Given the description of an element on the screen output the (x, y) to click on. 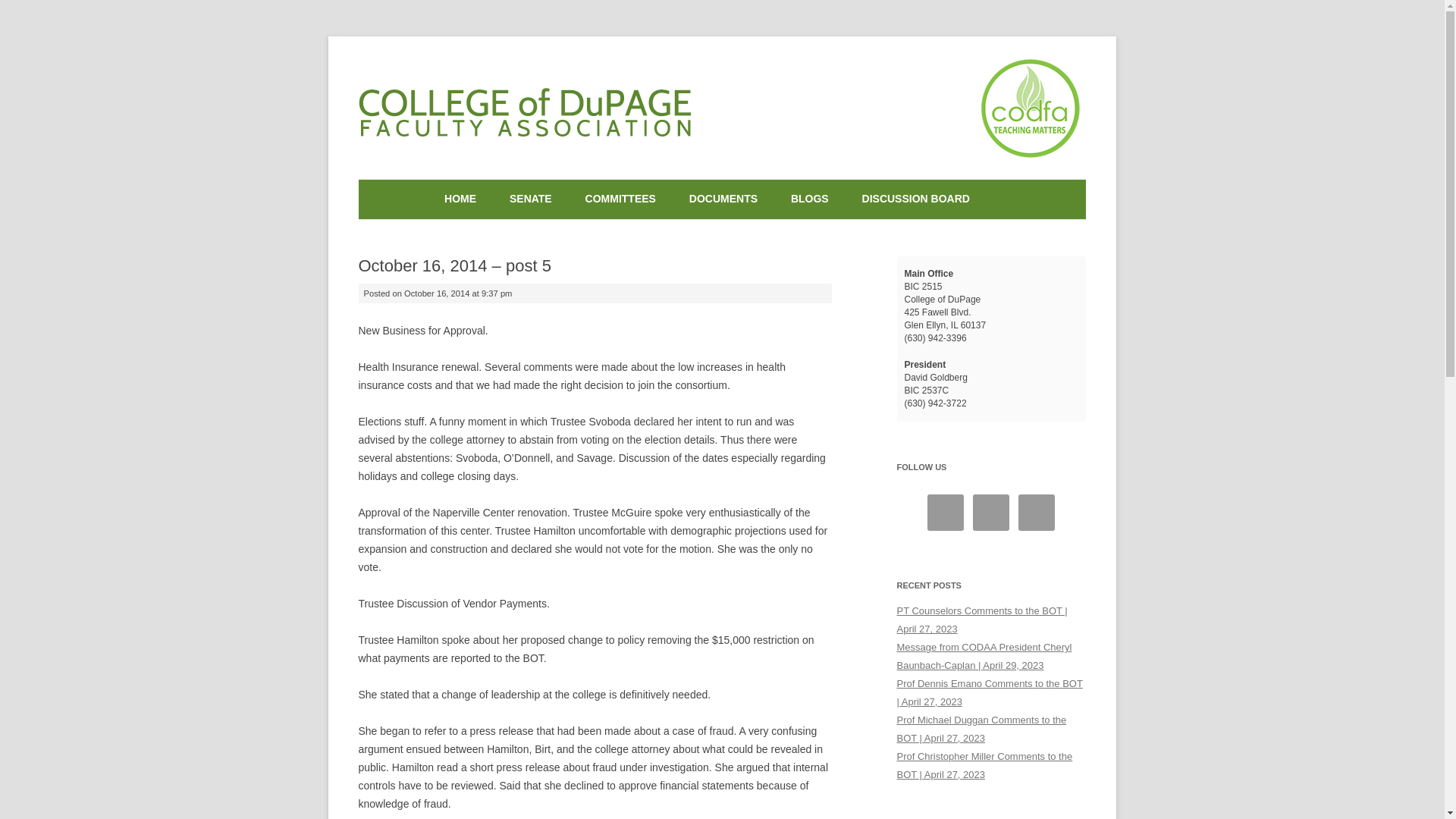
DISCUSSION BOARD (915, 199)
Skip to content (757, 184)
COMMITTEES (620, 199)
DOCUMENTS (722, 199)
SENATE (530, 199)
Skip to content (757, 184)
BLOGS (809, 199)
